Given the description of an element on the screen output the (x, y) to click on. 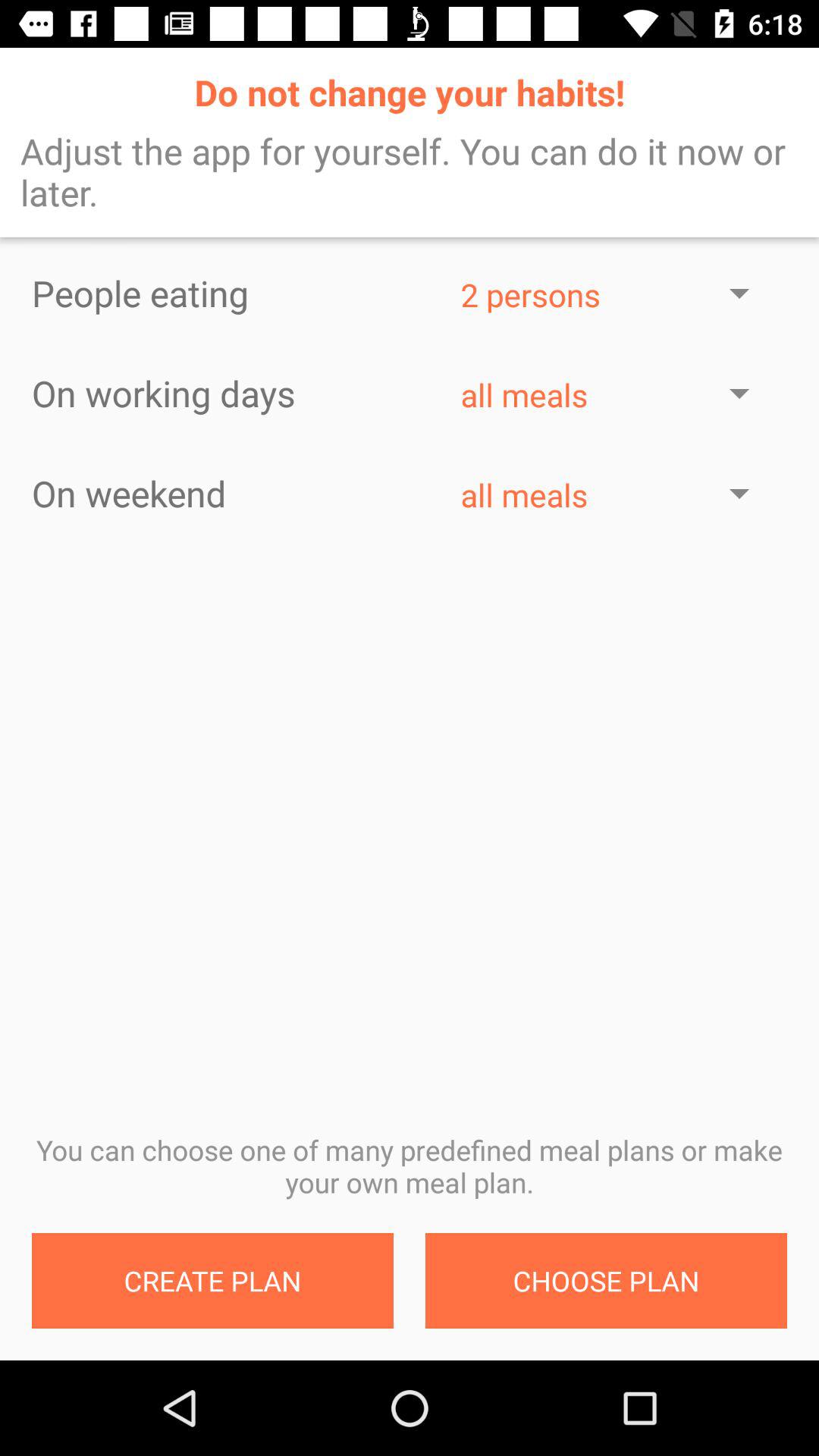
tap icon at the bottom left corner (212, 1280)
